Given the description of an element on the screen output the (x, y) to click on. 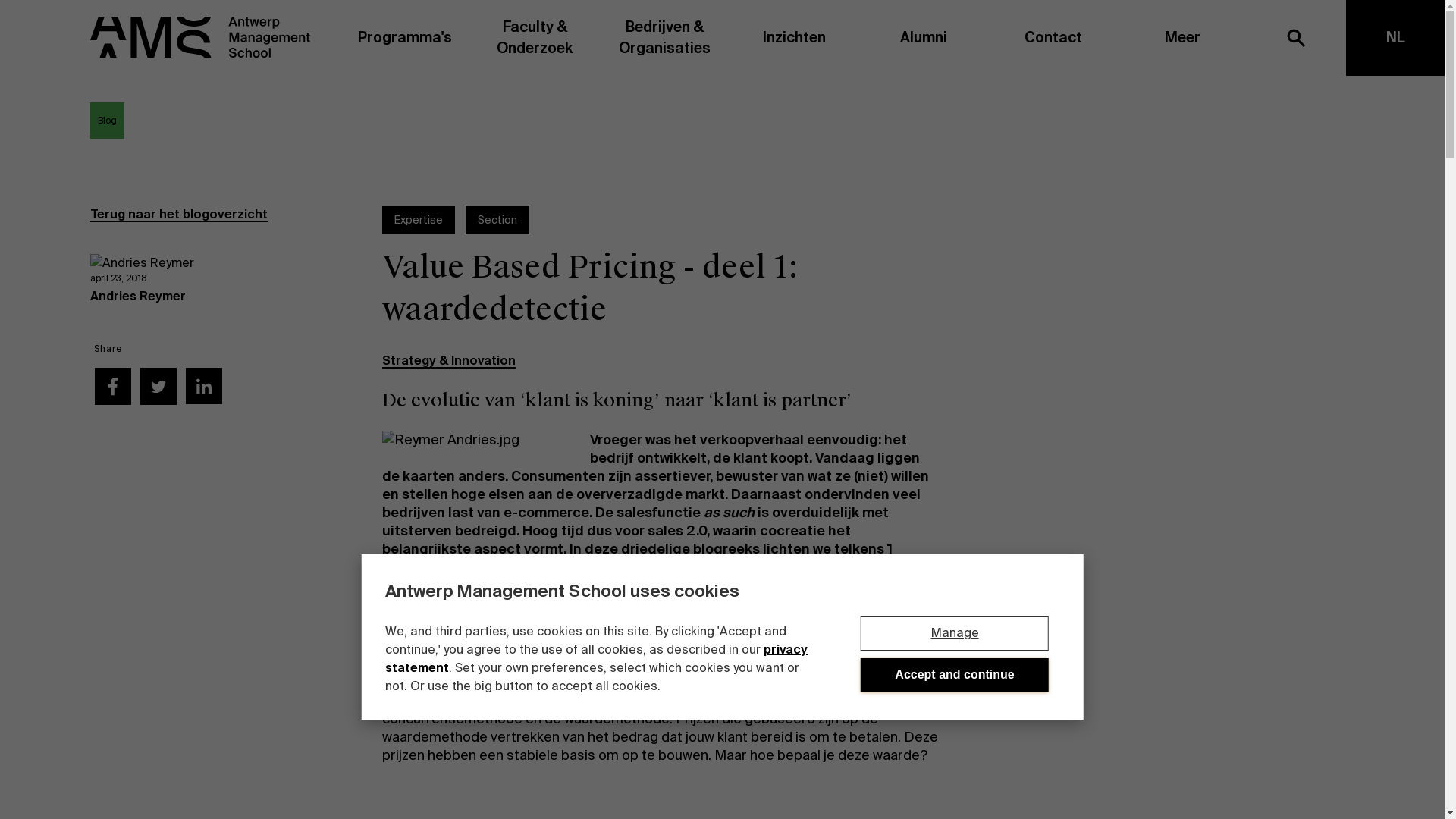
Expertise Element type: text (418, 219)
Accept and continue Element type: text (954, 674)
Andries Reymer Element type: text (137, 296)
Programma's Element type: text (405, 37)
Alumni Element type: text (923, 37)
Manage Element type: text (954, 632)
Bedrijven & Organisaties Element type: text (664, 37)
Terug naar het blogoverzicht Element type: text (178, 214)
privacy statement Element type: text (596, 658)
Inzichten Element type: text (794, 37)
Section Element type: text (497, 219)
Contact Element type: text (1052, 37)
meest bekende methodes Element type: text (652, 691)
Meer Element type: text (1182, 37)
Strategy & Innovation Element type: text (448, 360)
Faculty & Onderzoek Element type: text (534, 37)
